Given the description of an element on the screen output the (x, y) to click on. 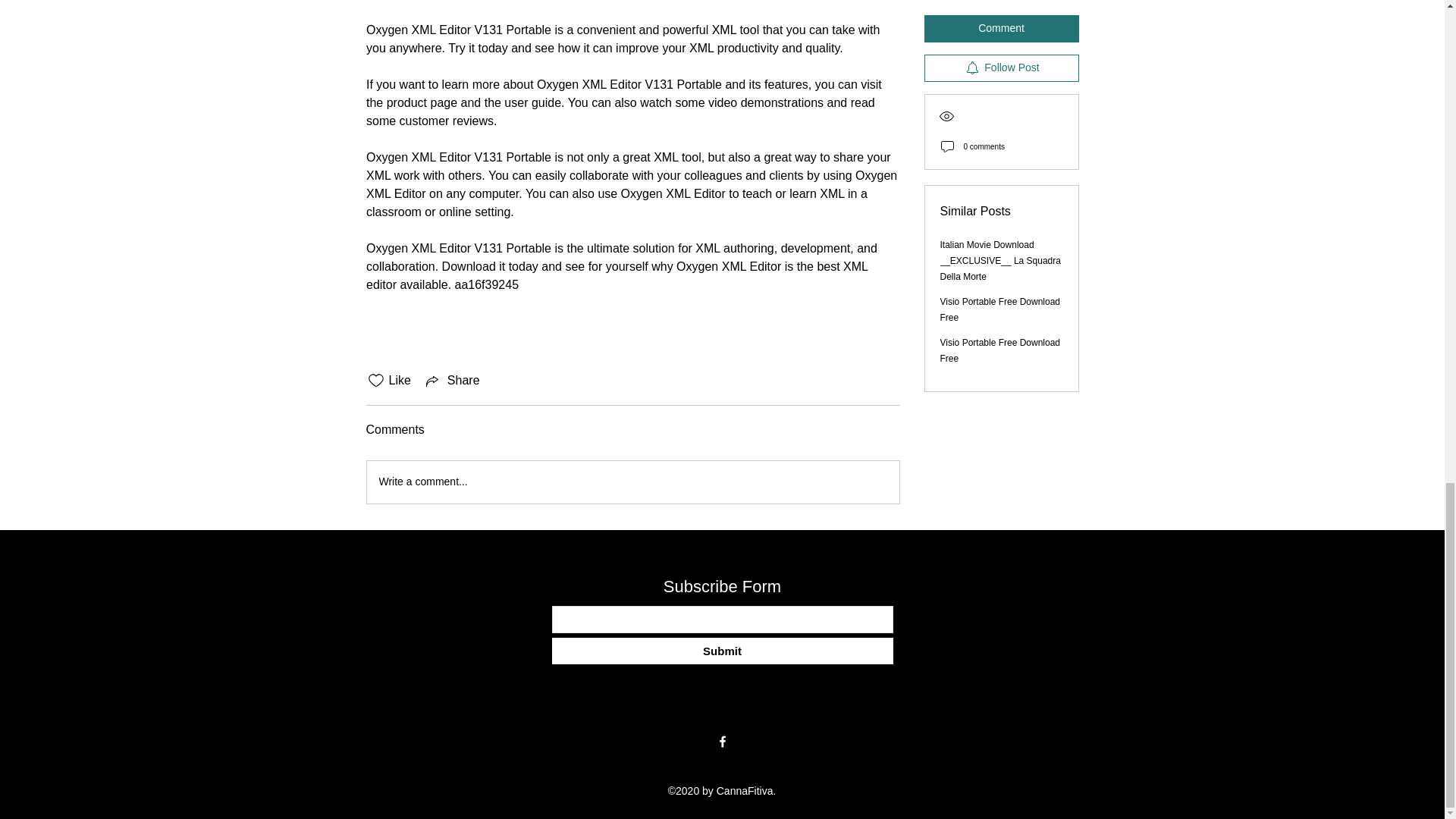
Share (451, 380)
Submit (722, 651)
Write a comment... (632, 482)
